Given the description of an element on the screen output the (x, y) to click on. 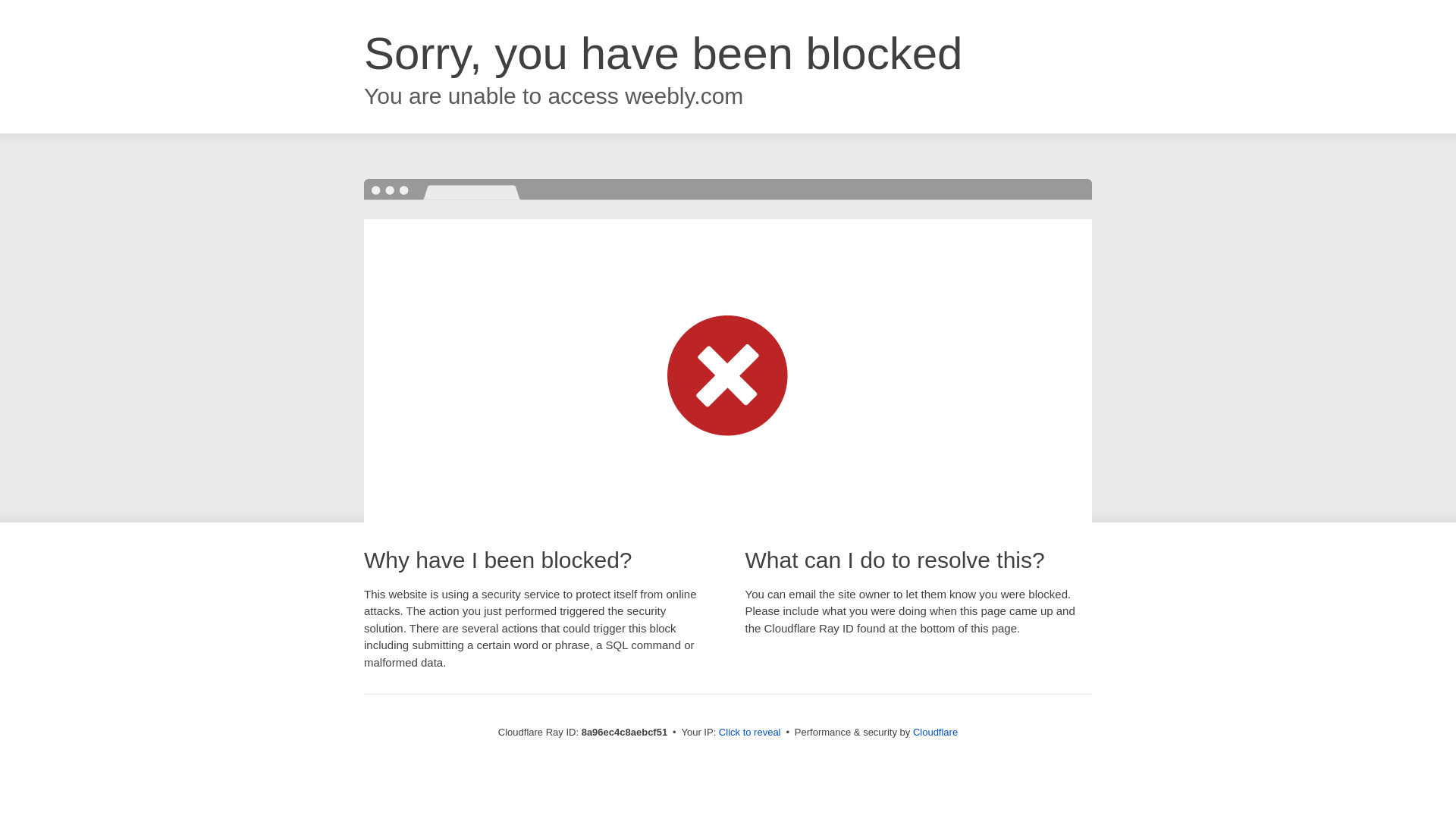
Click to reveal (749, 732)
Cloudflare (935, 731)
